Given the description of an element on the screen output the (x, y) to click on. 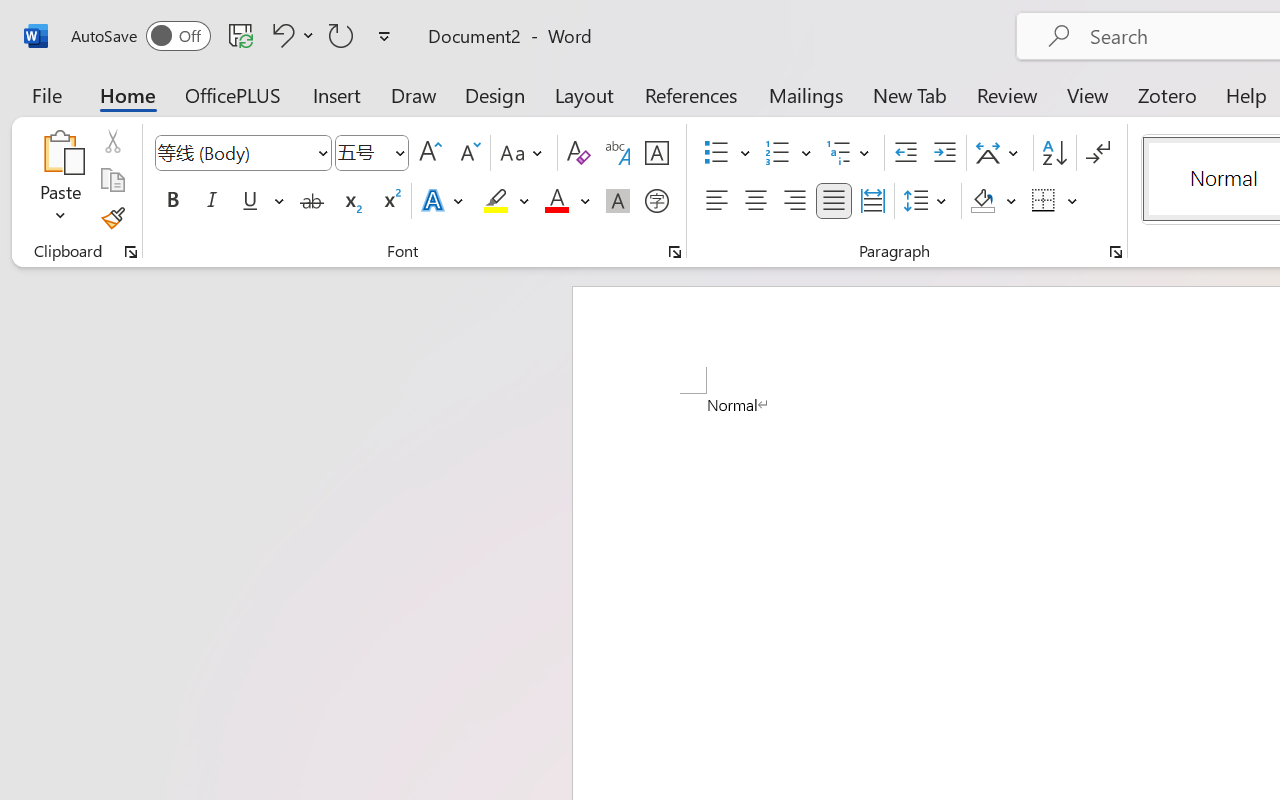
Text Highlight Color Yellow (495, 201)
Text Effects and Typography (444, 201)
Borders (1055, 201)
Font Color Red (556, 201)
OfficePLUS (233, 94)
Asian Layout (1000, 153)
Align Right (794, 201)
Font... (675, 252)
Quick Access Toolbar (233, 36)
Design (495, 94)
Numbering (788, 153)
Decrease Indent (906, 153)
Save (241, 35)
Grow Font (430, 153)
Copy (112, 179)
